Given the description of an element on the screen output the (x, y) to click on. 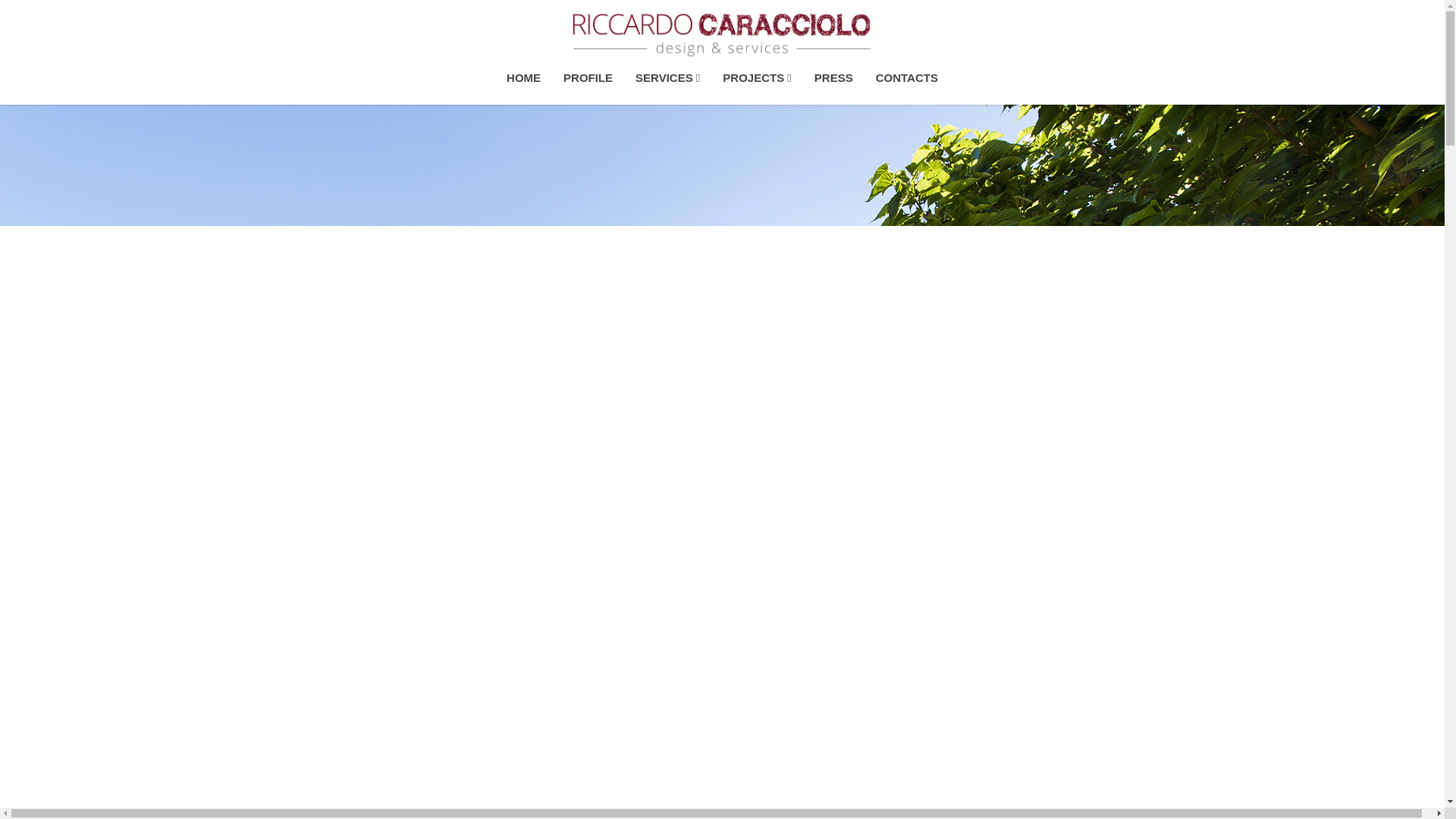
HOME (523, 77)
SERVICES (667, 77)
PROFILE (587, 77)
PROJECTS (757, 77)
PRESS (833, 77)
Profile (587, 77)
CONTACTS (906, 77)
